Given the description of an element on the screen output the (x, y) to click on. 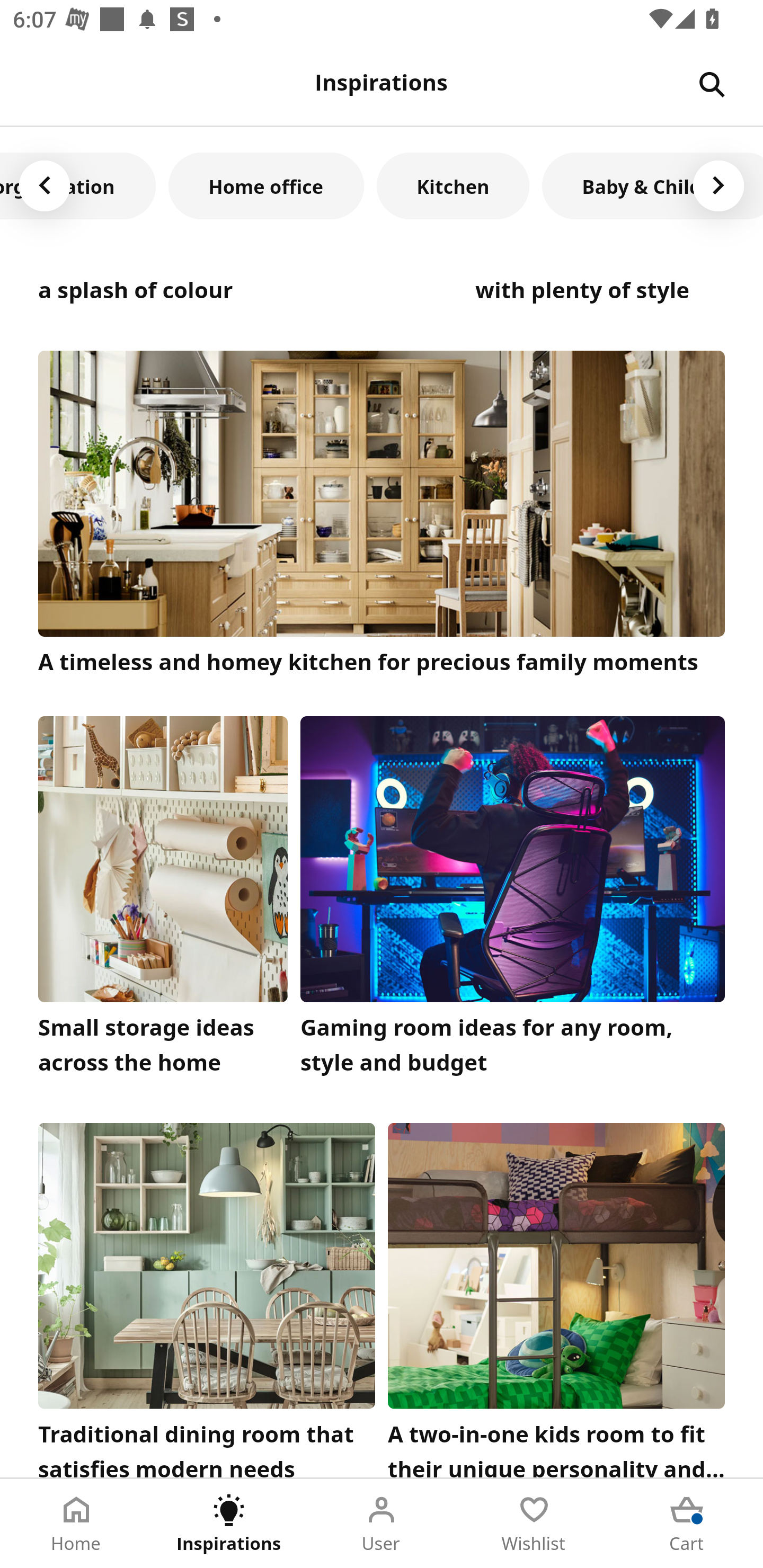
Home office (265, 185)
Kitchen (452, 185)
Baby & Children  (652, 185)
The modern kitchen with plenty of style (599, 290)
Small storage ideas across the home (162, 900)
Gaming room ideas for any room, style and budget (512, 900)
Home
Tab 1 of 5 (76, 1522)
Inspirations
Tab 2 of 5 (228, 1522)
User
Tab 3 of 5 (381, 1522)
Wishlist
Tab 4 of 5 (533, 1522)
Cart
Tab 5 of 5 (686, 1522)
